Given the description of an element on the screen output the (x, y) to click on. 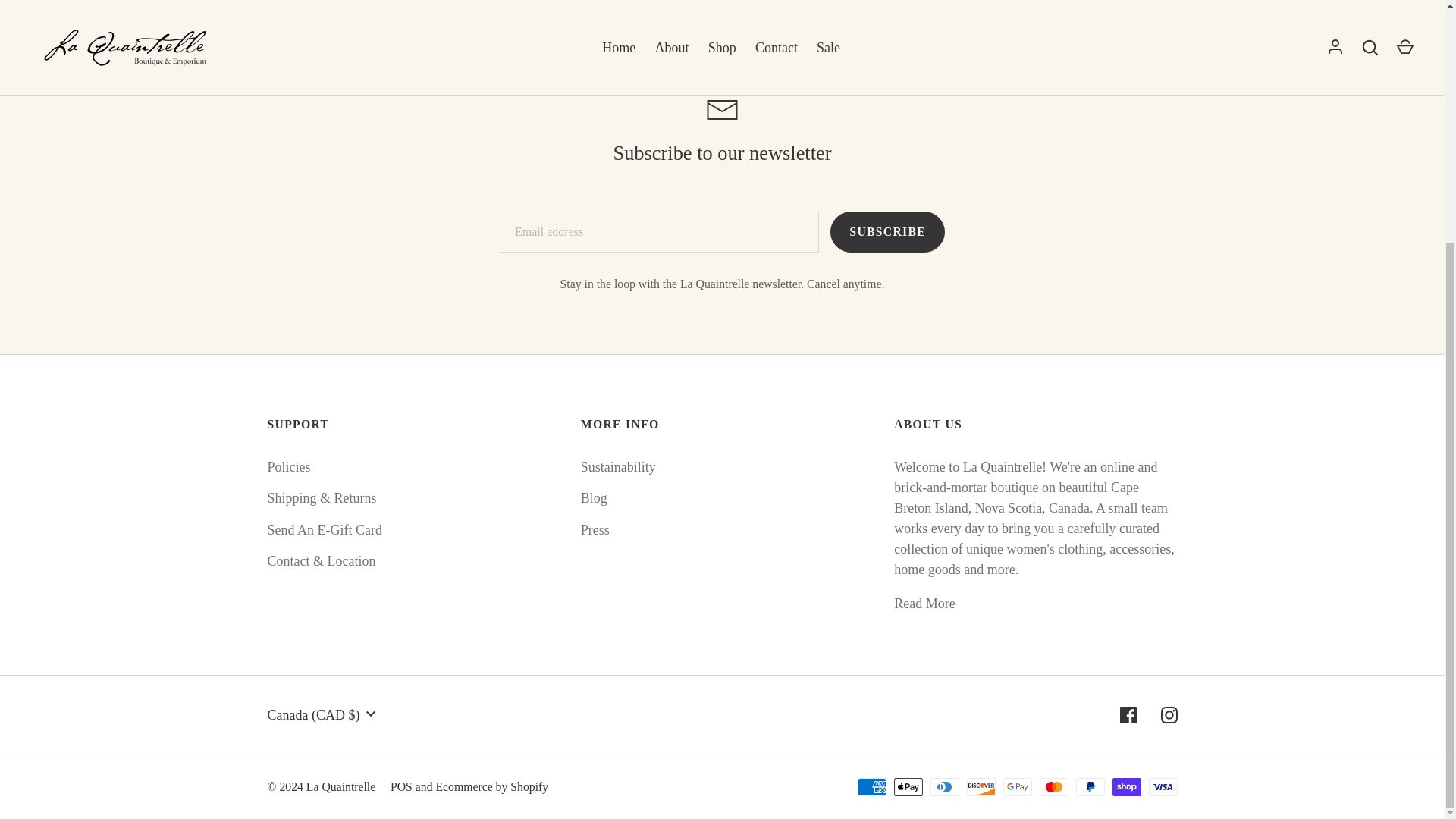
About Us (924, 603)
Down (370, 714)
Email (722, 109)
